Given the description of an element on the screen output the (x, y) to click on. 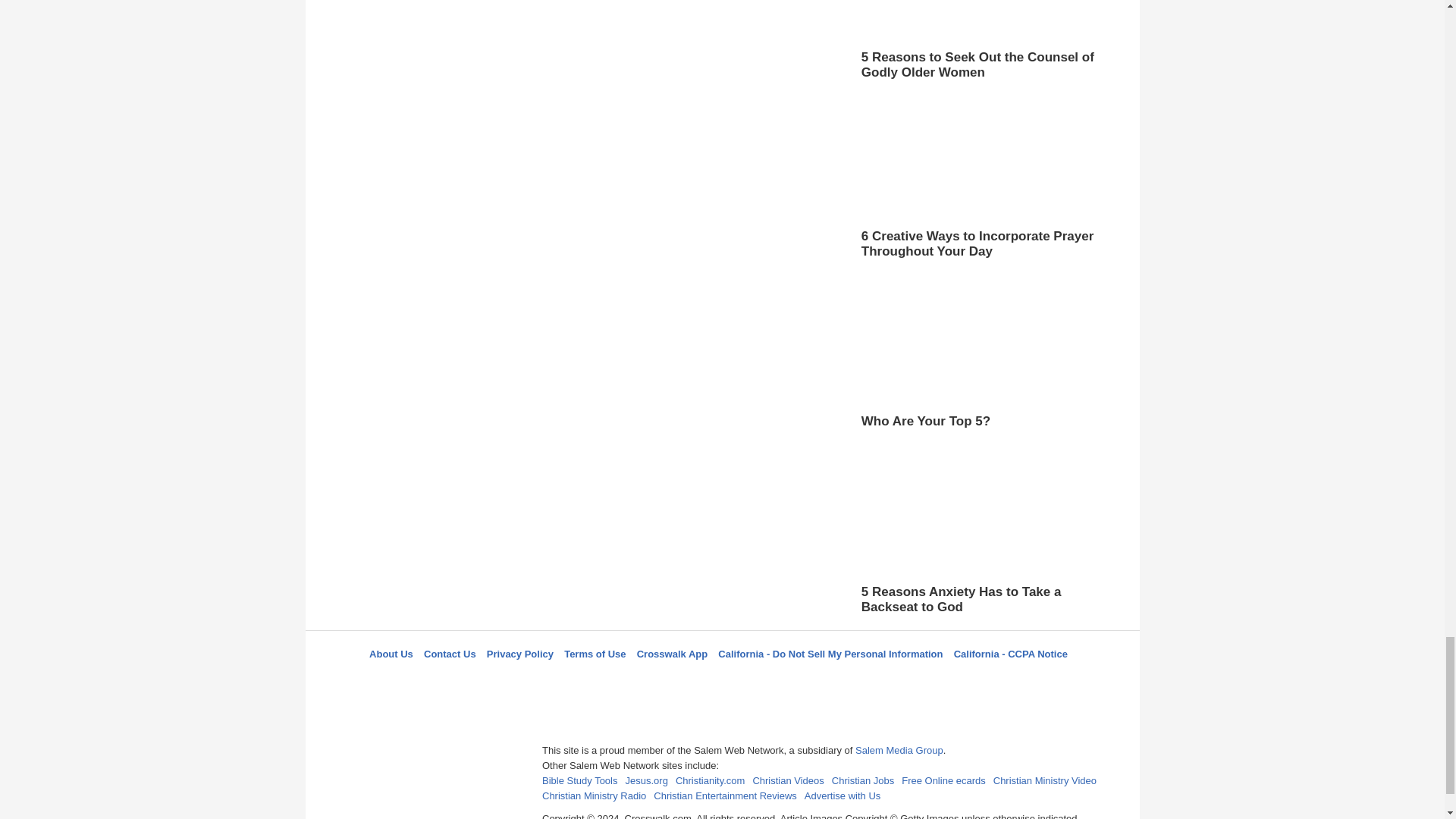
Pinterest (757, 681)
Facebook (645, 681)
Twitter (683, 681)
LifeAudio (719, 681)
YouTube (795, 681)
